Given the description of an element on the screen output the (x, y) to click on. 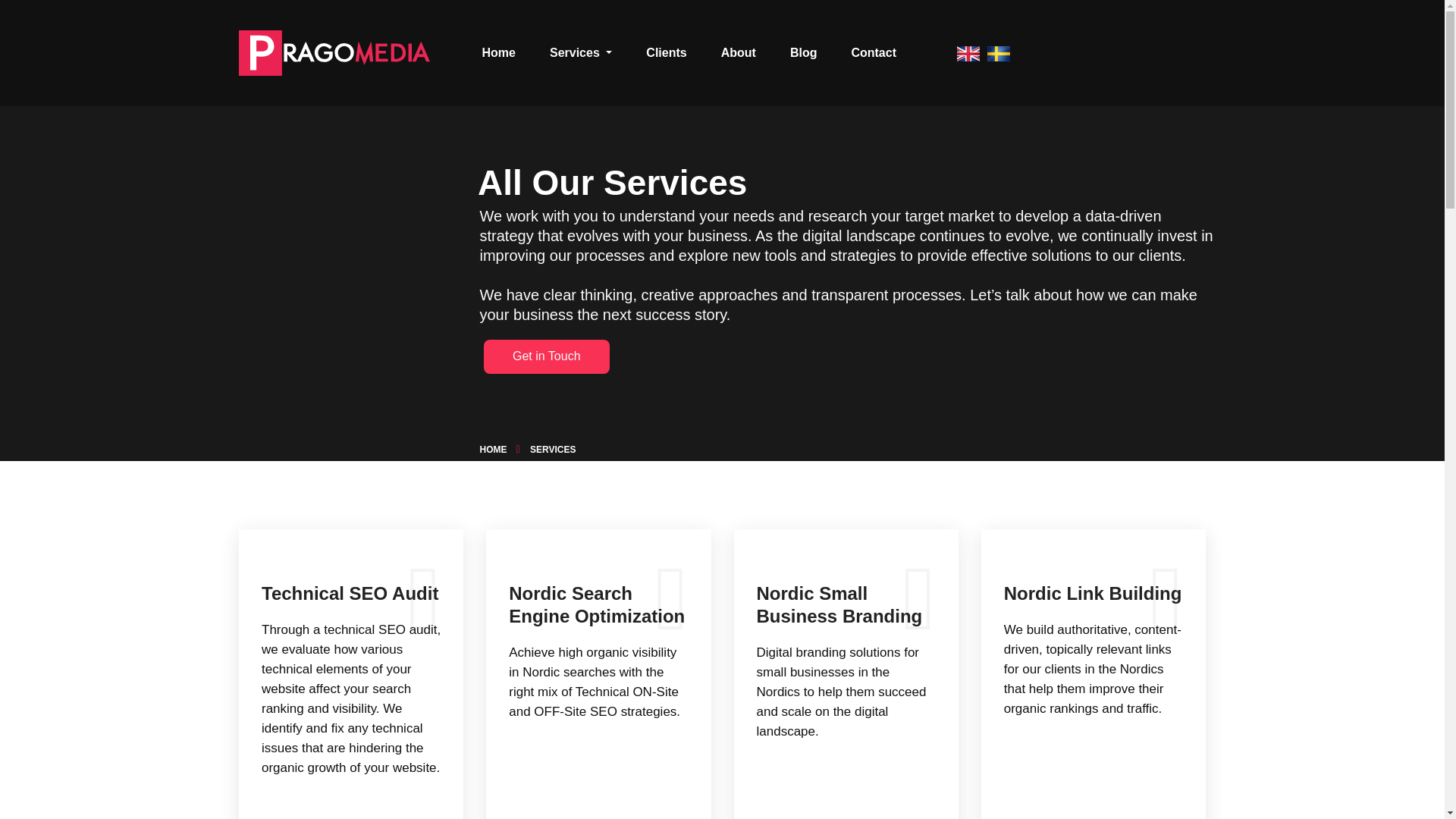
Contact (873, 53)
About (738, 53)
Get in Touch (546, 356)
Clients (666, 53)
Blog (803, 53)
Home (499, 53)
Services (580, 53)
Get in Touch (545, 354)
